Given the description of an element on the screen output the (x, y) to click on. 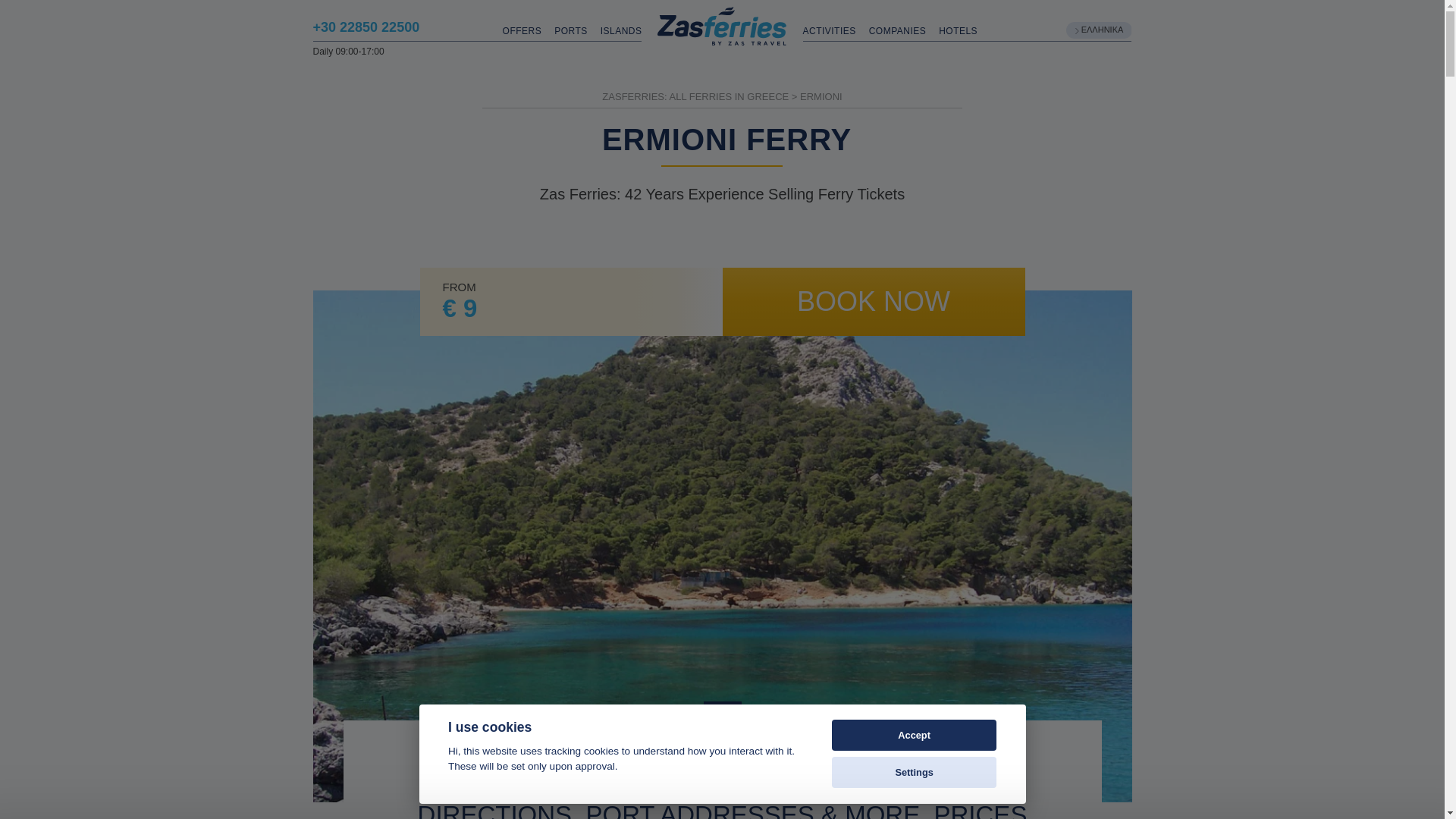
ZASFERRIES: ALL FERRIES IN GREECE (695, 96)
OFFERS (528, 31)
ACTIVITIES (836, 31)
COMPANIES (904, 31)
PORTS (576, 31)
HOTELS (957, 31)
ISLANDS (620, 31)
